Given the description of an element on the screen output the (x, y) to click on. 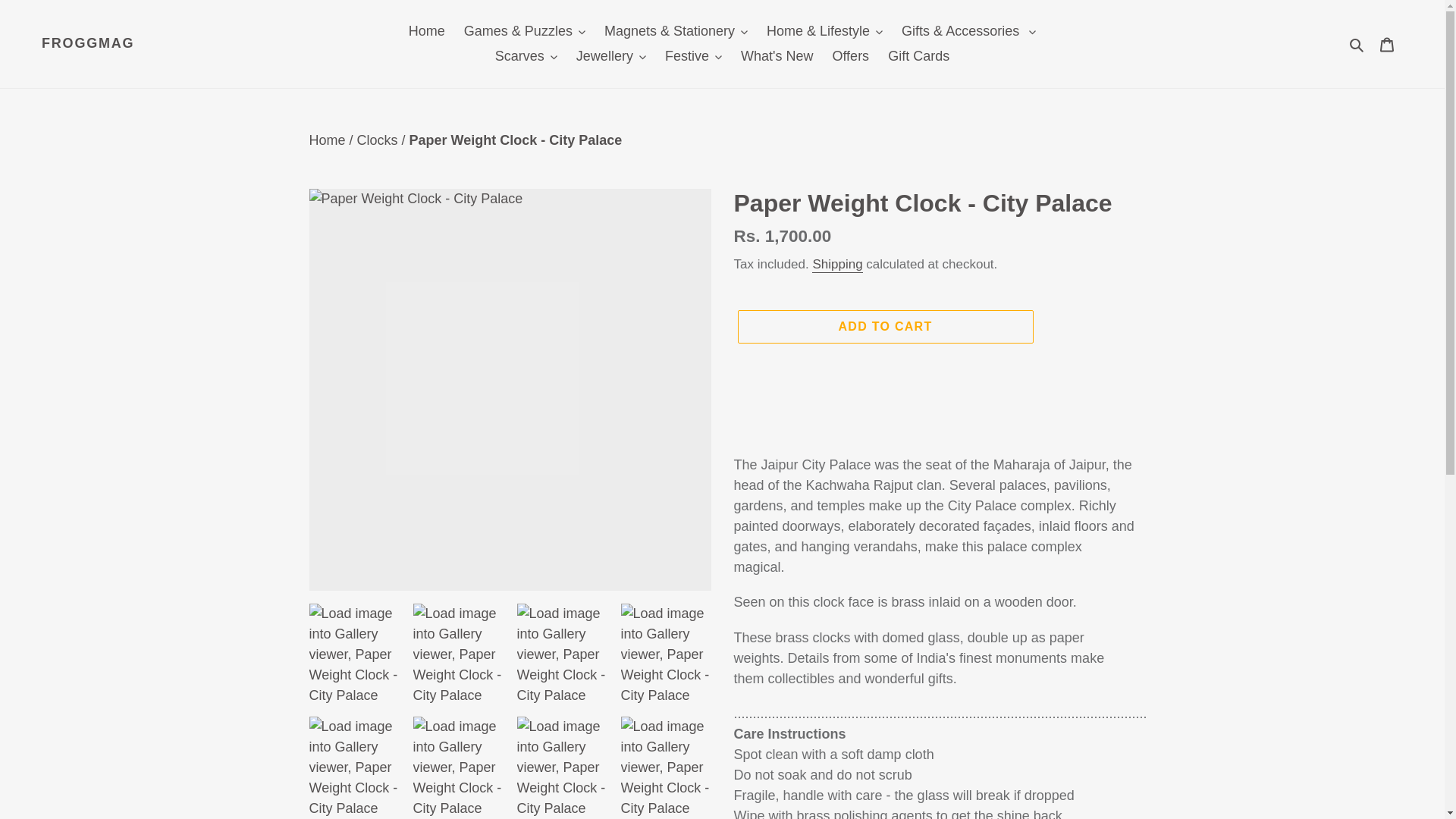
FROGGMAG (87, 44)
Home (426, 31)
